Given the description of an element on the screen output the (x, y) to click on. 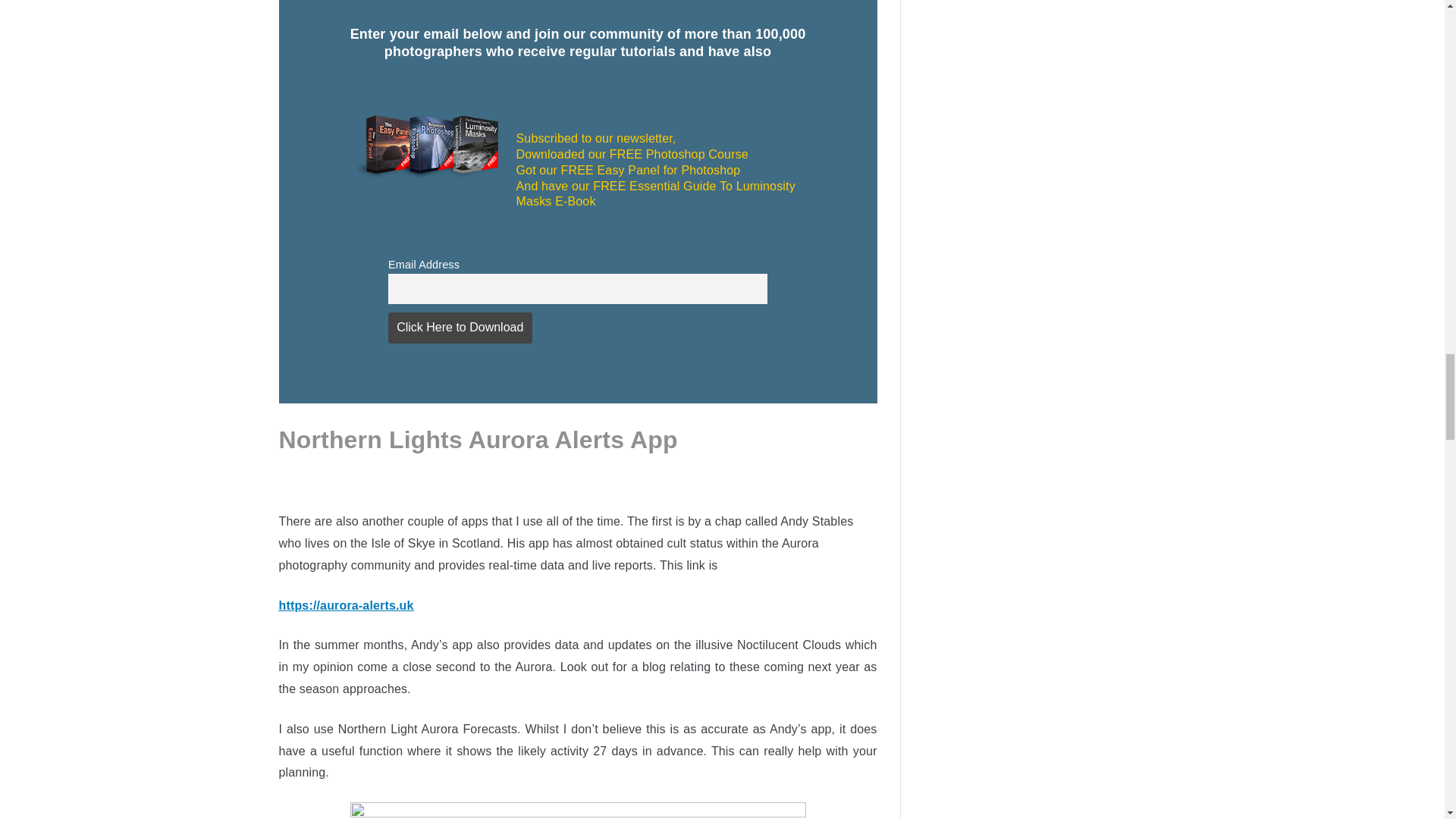
Click Here to Download (460, 327)
